Given the description of an element on the screen output the (x, y) to click on. 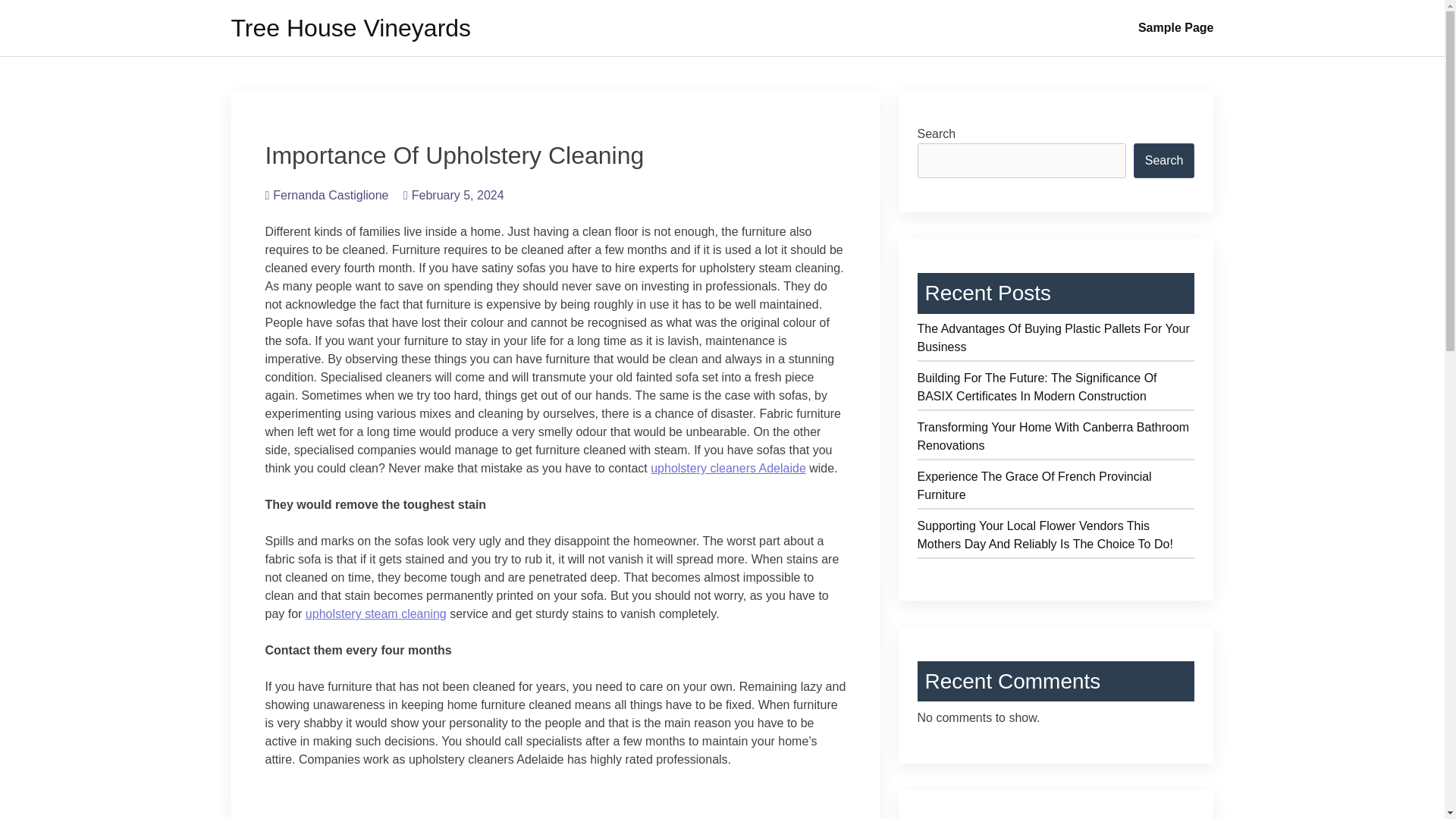
Transforming Your Home With Canberra Bathroom Renovations (1056, 439)
The Advantages Of Buying Plastic Pallets For Your Business (1056, 340)
Fernanda Castiglione (326, 195)
Search (1164, 160)
February 5, 2024 (453, 195)
upholstery cleaners Adelaide (728, 468)
Experience The Grace Of French Provincial Furniture (1056, 488)
Sample Page (1175, 28)
upholstery steam cleaning (375, 613)
Tree House Vineyards (350, 27)
